Given the description of an element on the screen output the (x, y) to click on. 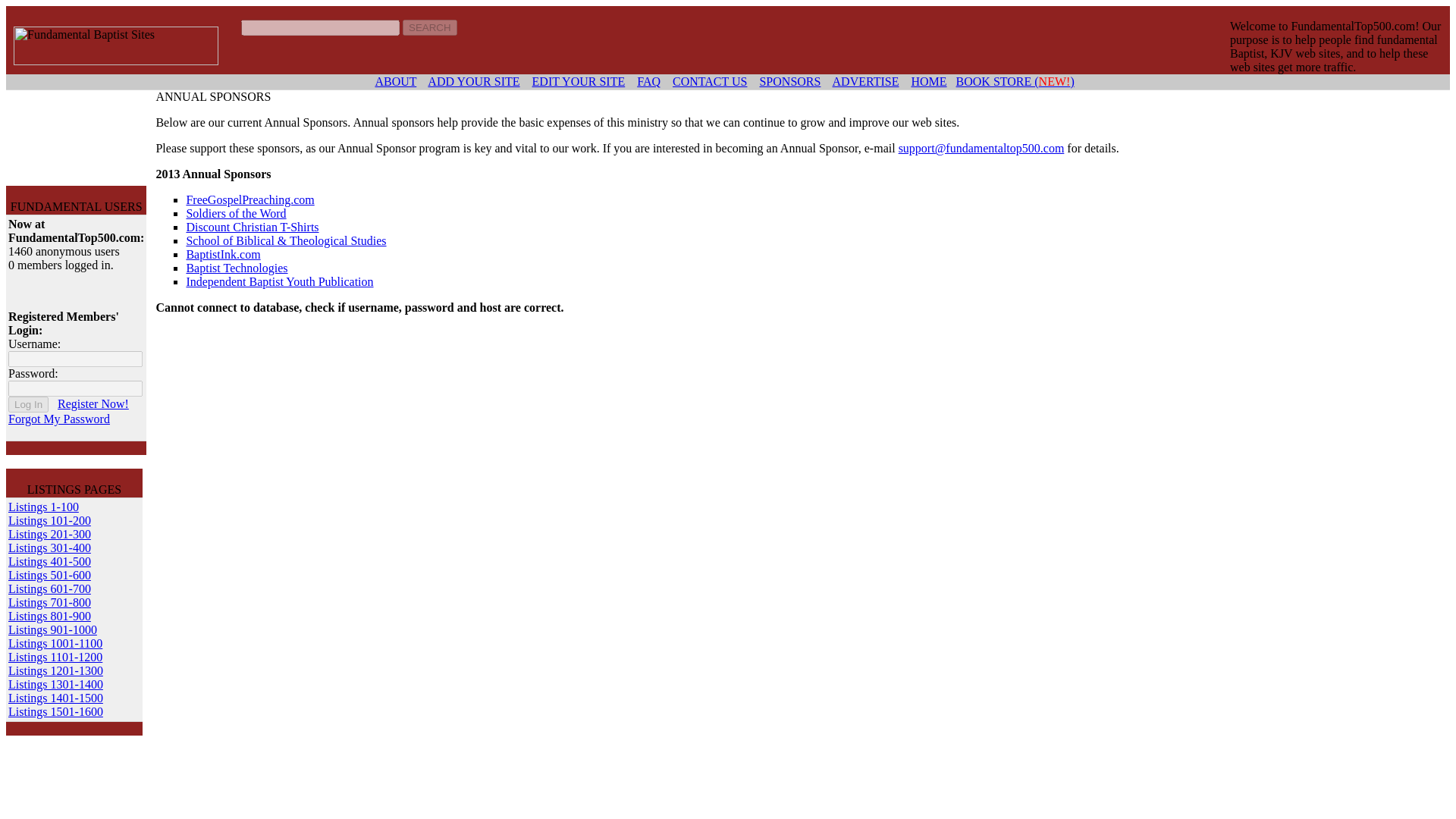
SEARCH (430, 27)
ADD YOUR SITE (473, 81)
Log In (28, 404)
Forgot My Password (59, 418)
Listings 101-200 (49, 520)
SEARCH (430, 27)
Listings 401-500 (49, 561)
Independent Baptist Youth Publication (279, 281)
Listings 801-900 (49, 615)
ABOUT (395, 81)
Listings 1-100 (43, 506)
Listings 1301-1400 (55, 684)
CONTACT US (709, 81)
Listings 1001-1100 (54, 643)
Listings 301-400 (49, 547)
